Given the description of an element on the screen output the (x, y) to click on. 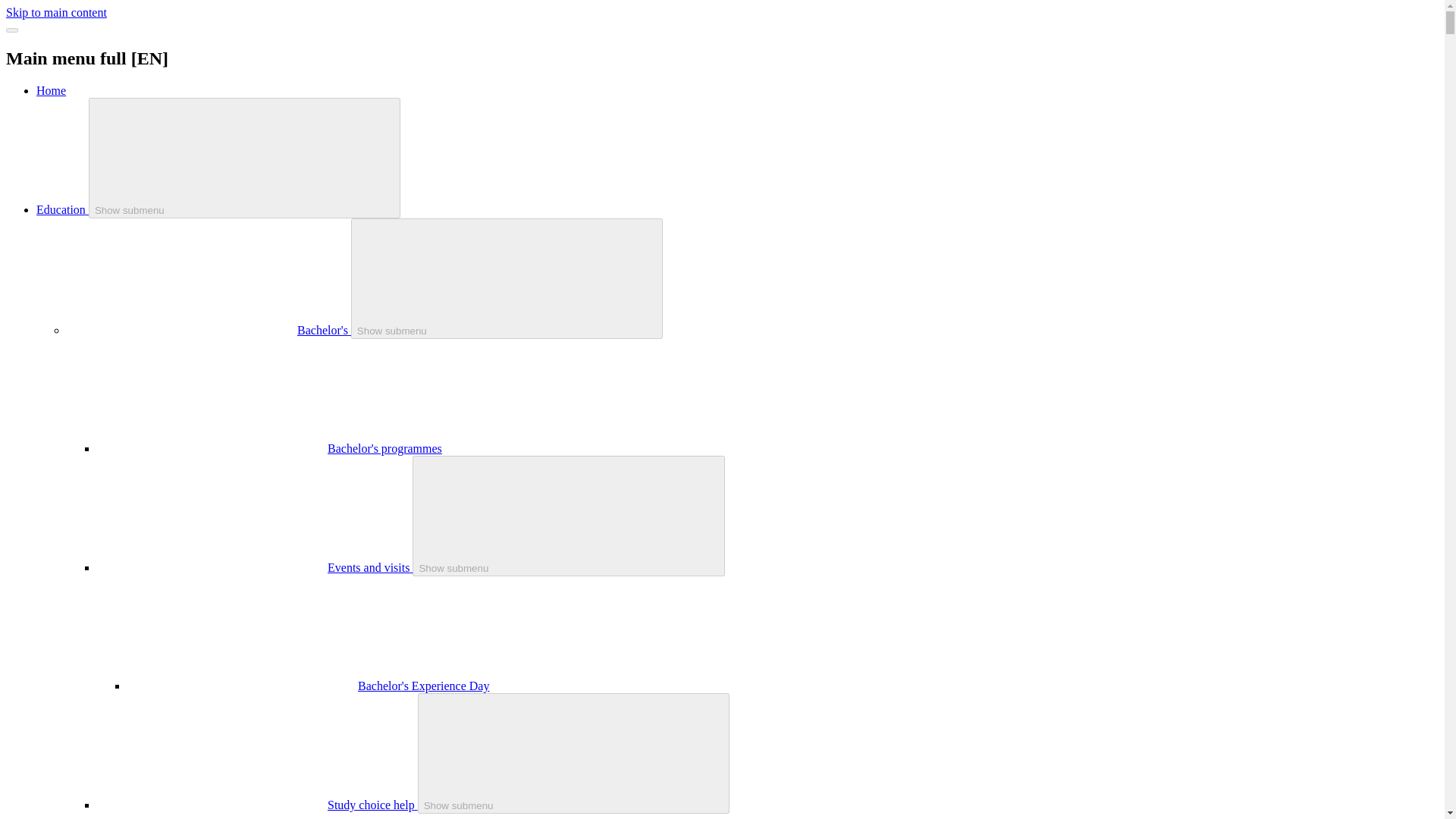
Skip to main content (55, 11)
Show submenu (568, 515)
Bachelor's Experience Day (423, 685)
Home (50, 90)
Bachelor's programmes (384, 448)
Education (62, 209)
Events and visits (369, 567)
Show submenu (573, 753)
Show submenu (506, 278)
Show submenu (244, 157)
Study choice help (372, 804)
Bachelor's (323, 329)
